Given the description of an element on the screen output the (x, y) to click on. 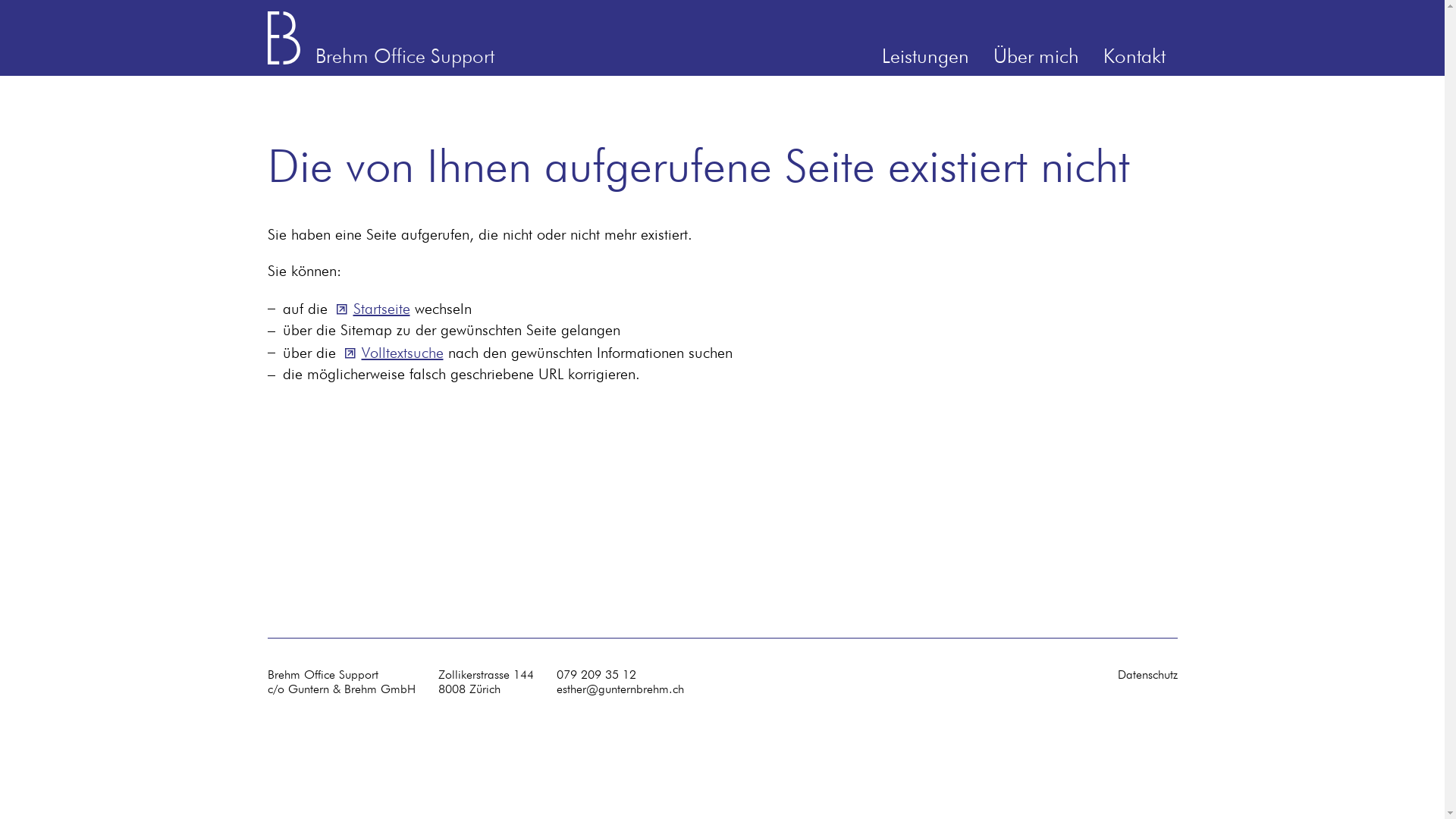
Volltextsuche Element type: text (390, 352)
Leistungen Element type: text (924, 57)
Kontakt Element type: text (1133, 57)
esther@gunternbrehm.ch Element type: text (620, 690)
Datenschutz Element type: text (1147, 675)
Brehm Office Support Element type: text (380, 48)
Startseite Element type: text (371, 308)
